Given the description of an element on the screen output the (x, y) to click on. 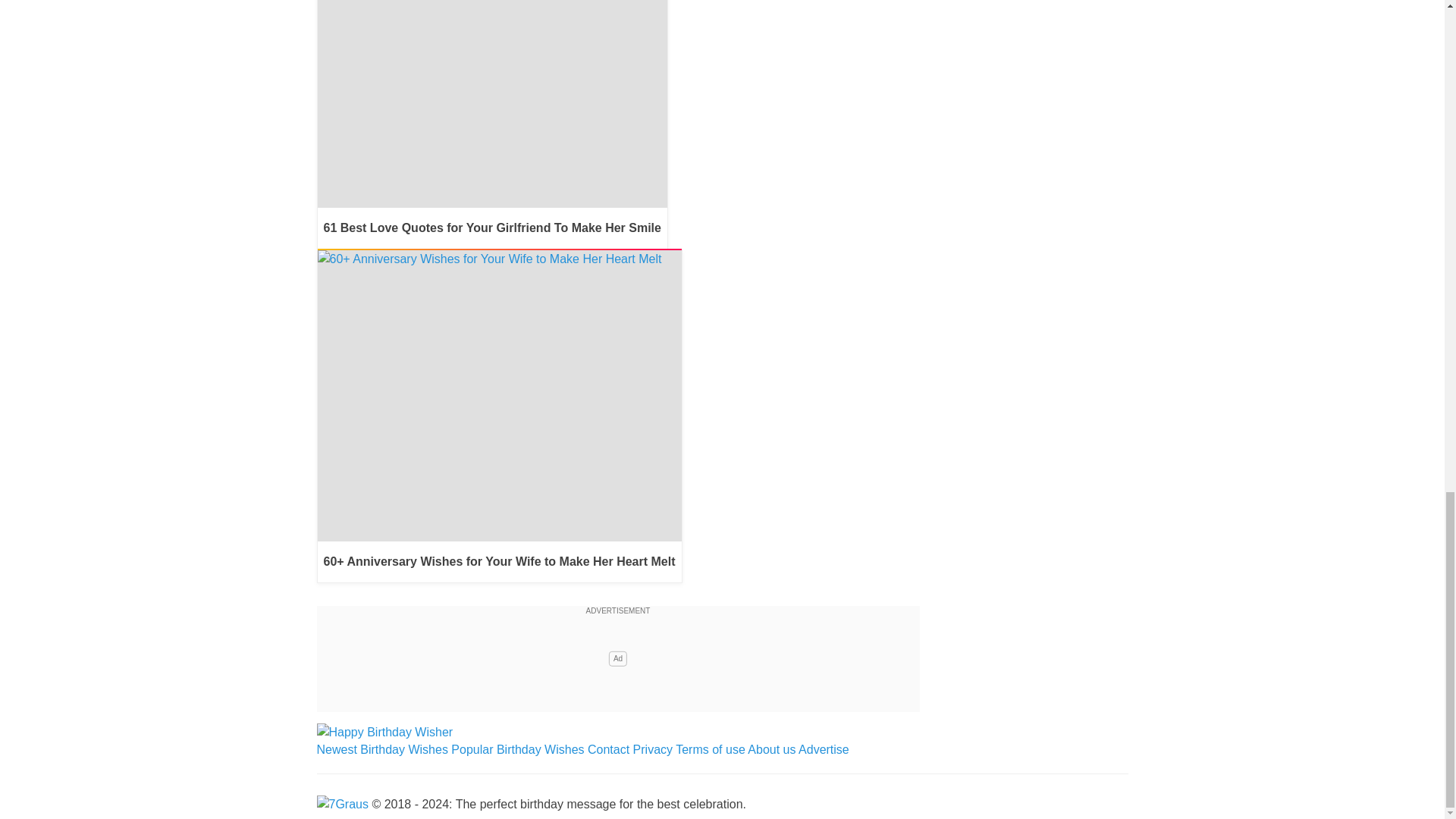
61 Best Love Quotes for Your Girlfriend To Make Her Smile (491, 124)
